Given the description of an element on the screen output the (x, y) to click on. 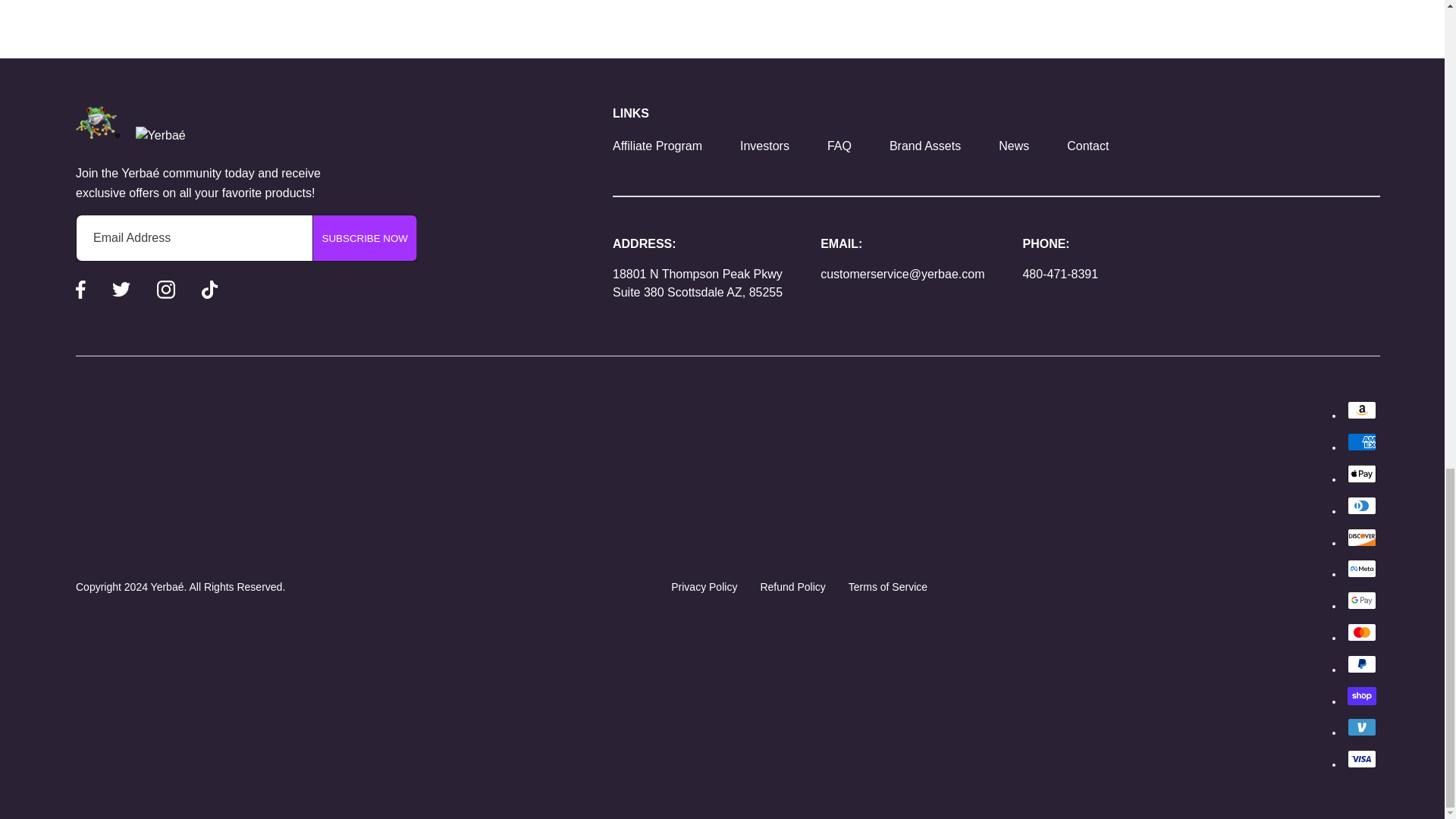
PayPal (1361, 664)
Amazon (1361, 410)
Discover (1361, 537)
Google Pay (1361, 600)
American Express (1361, 442)
Meta Pay (1361, 568)
Mastercard (1361, 632)
Refund Policy (792, 586)
FAQ (839, 145)
Diners Club (1361, 505)
